Given the description of an element on the screen output the (x, y) to click on. 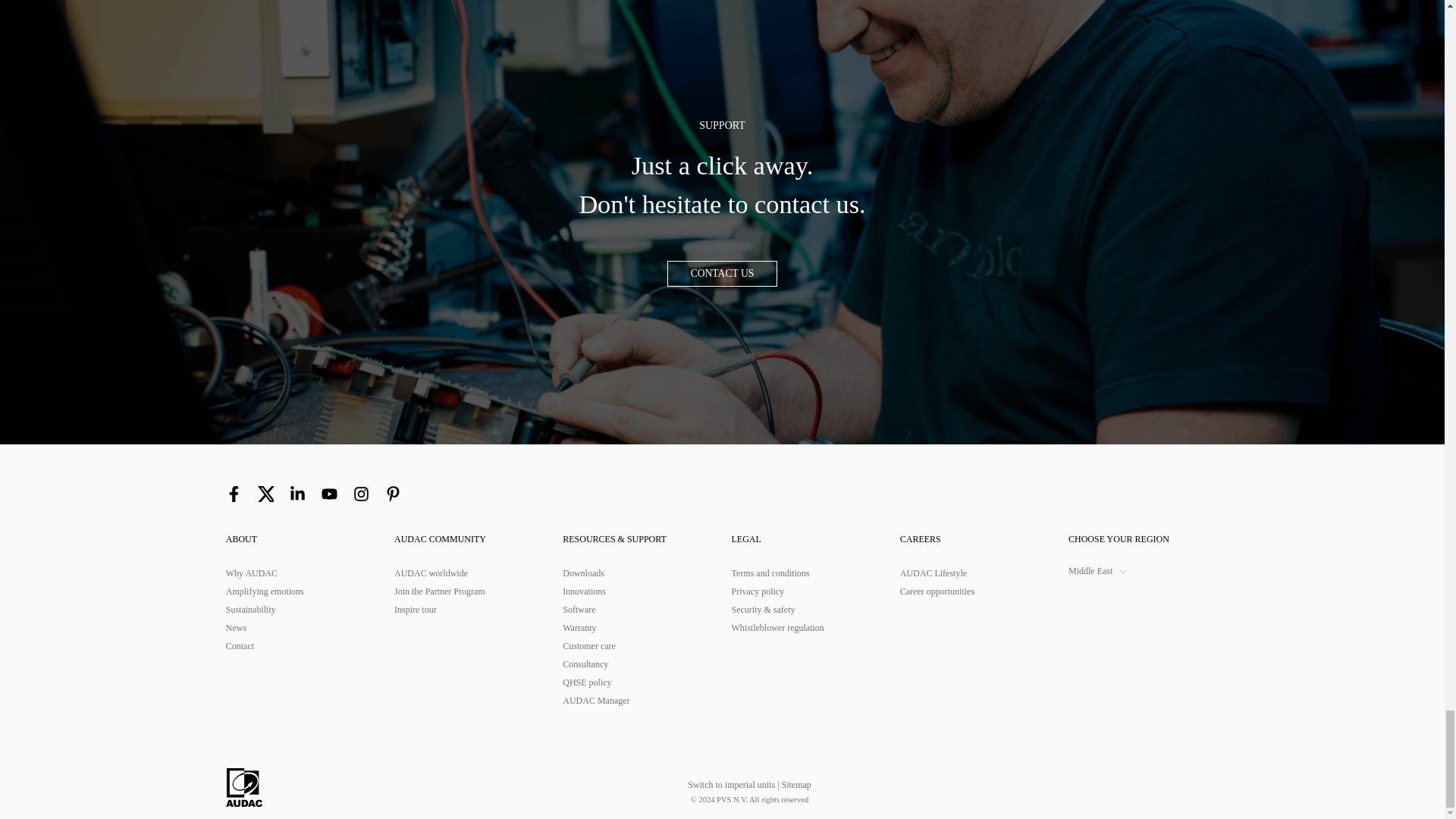
linkedin (297, 494)
youtube (329, 494)
chevron-down (1122, 571)
facebook (233, 494)
AUDAC Manager (637, 700)
instagram (361, 494)
x (265, 494)
pinterest (393, 494)
AUDAC - Inspired by sound (243, 787)
